Given the description of an element on the screen output the (x, y) to click on. 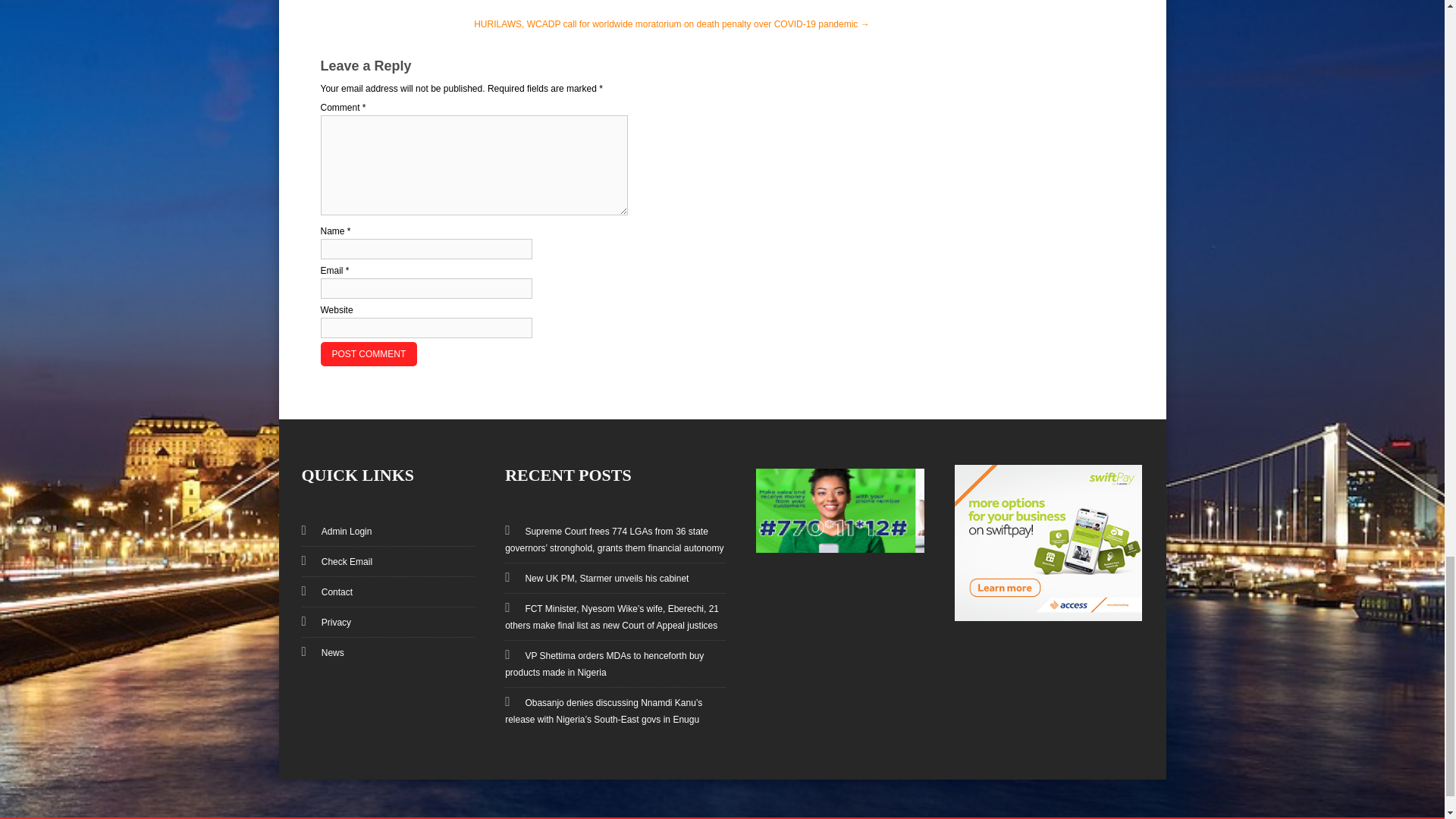
Post Comment (368, 354)
Contact (328, 592)
Check Email (338, 561)
Privacy (327, 622)
Post Comment (368, 354)
Admin Login (338, 531)
